Given the description of an element on the screen output the (x, y) to click on. 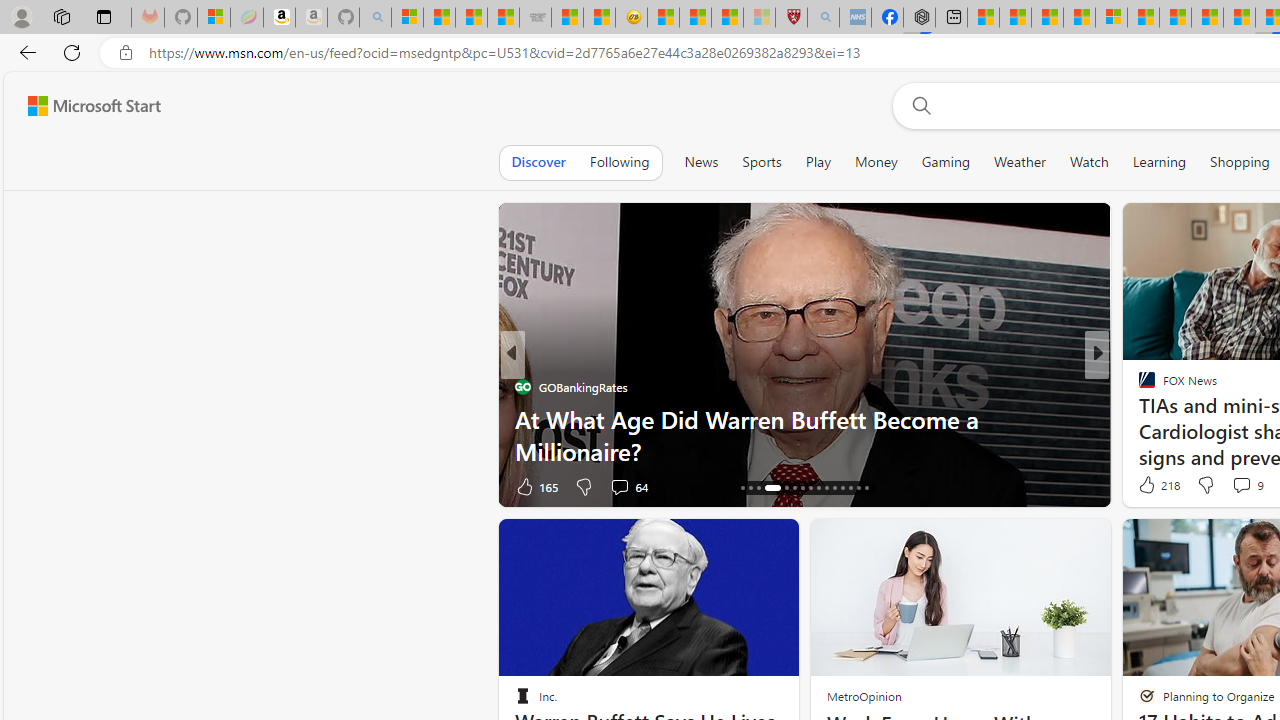
AutomationID: tab-30 (865, 487)
AutomationID: tab-16 (742, 487)
Parade (1138, 386)
400 Like (1151, 486)
View comments 23 Comment (1234, 485)
AutomationID: tab-20 (780, 487)
View comments 626 Comment (11, 485)
View comments 66 Comment (1234, 485)
